Given the description of an element on the screen output the (x, y) to click on. 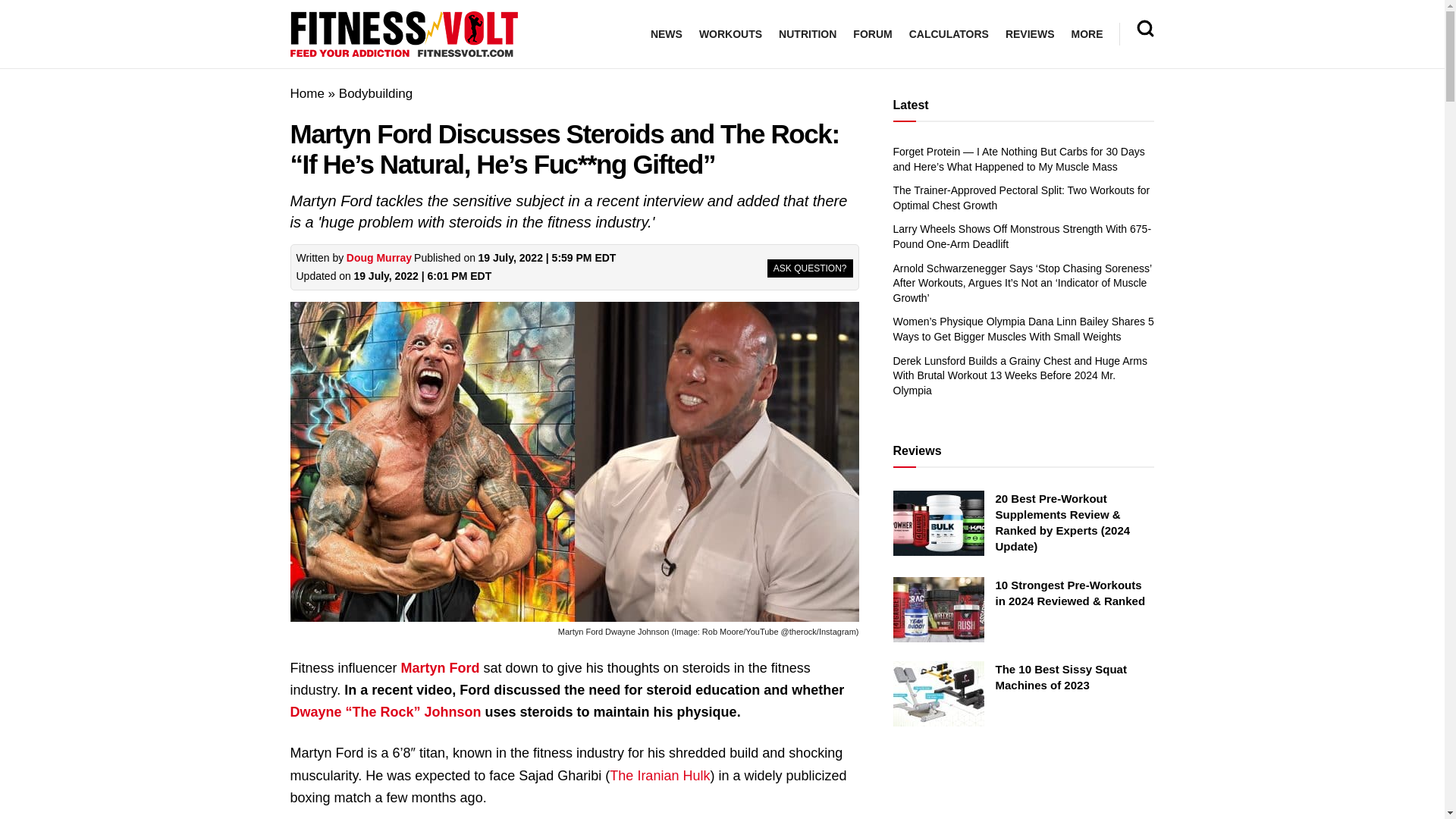
CALCULATORS (948, 34)
REVIEWS (1030, 34)
MORE (1086, 34)
NEWS (666, 34)
WORKOUTS (729, 34)
NUTRITION (806, 34)
FORUM (872, 34)
